Given the description of an element on the screen output the (x, y) to click on. 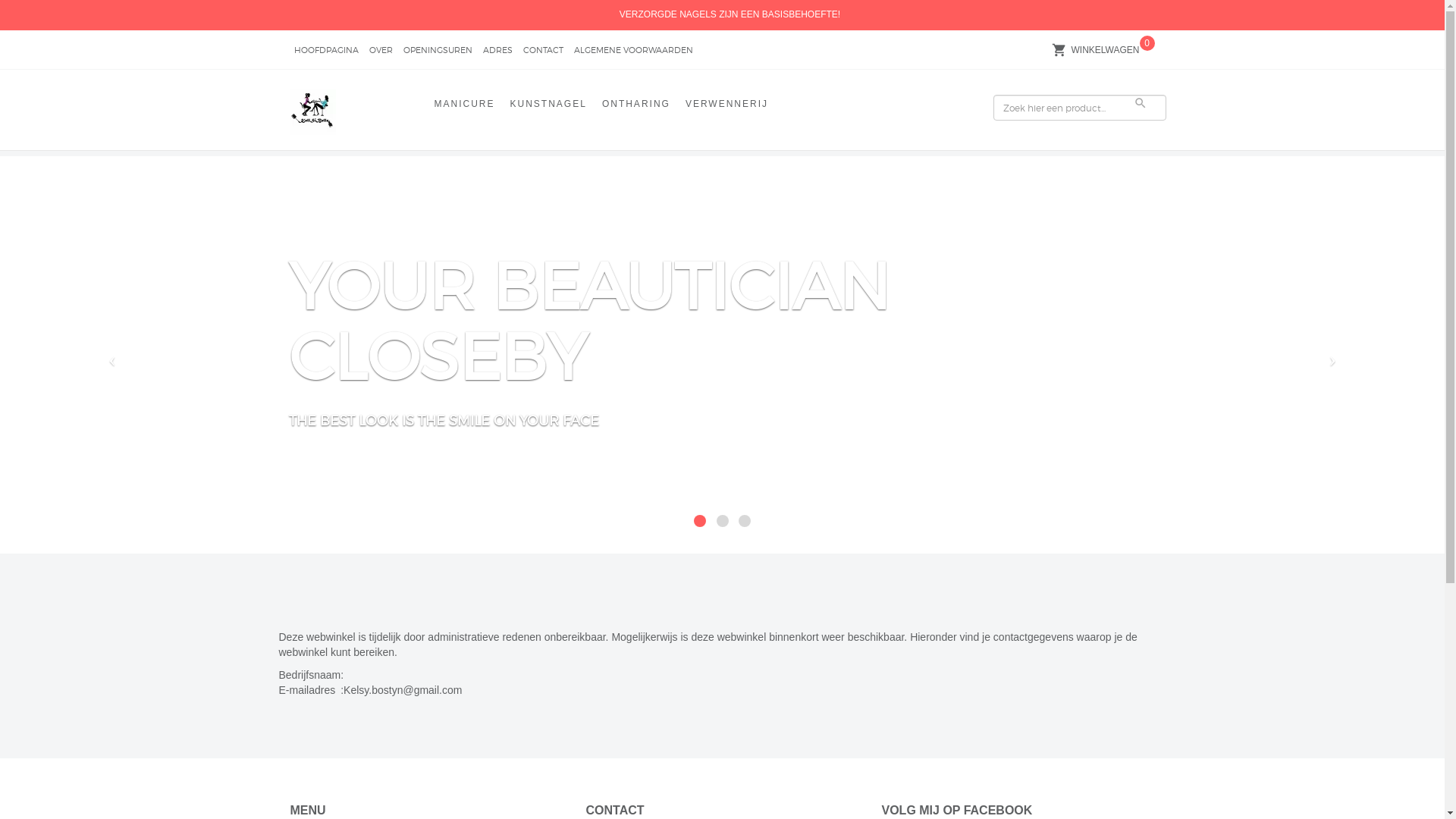
ONTHARING Element type: text (636, 105)
OPENINGSUREN Element type: text (437, 51)
OVER Element type: text (380, 51)
search Element type: text (1140, 102)
CONTACT Element type: text (543, 51)
WINKELWAGEN Element type: text (1104, 51)
HOOFDPAGINA Element type: text (326, 51)
MANICURE Element type: text (463, 105)
local_grocery_storeWINKELWAGEN
0 Element type: text (1104, 49)
VERWENNERIJ Element type: text (726, 105)
KUNSTNAGEL Element type: text (548, 105)
ALGEMENE VOORWAARDEN Element type: text (632, 51)
ADRES Element type: text (496, 51)
